Given the description of an element on the screen output the (x, y) to click on. 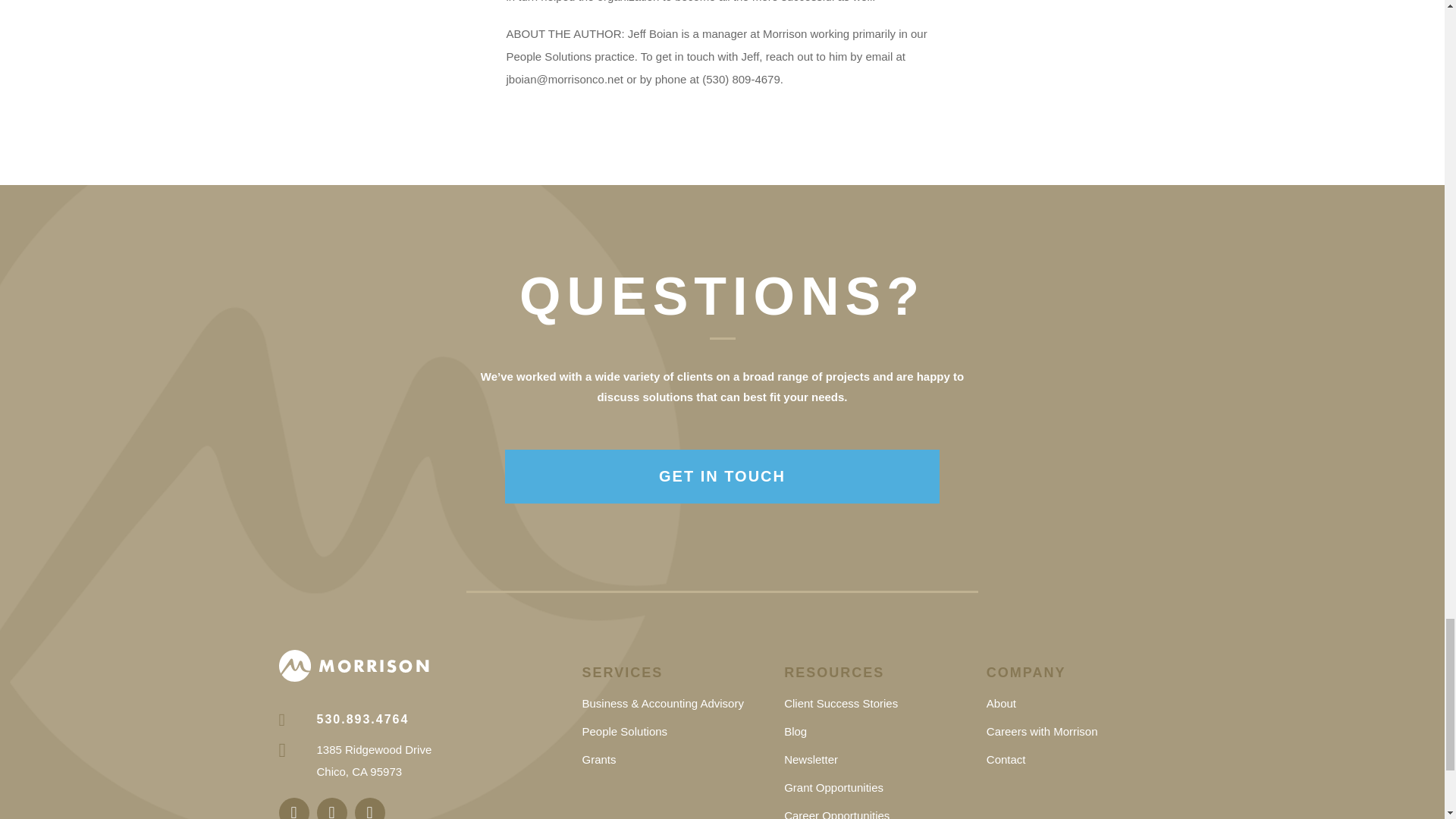
Newsletter (811, 758)
Client Success Stories (841, 703)
530.893.4764 (344, 720)
About (1001, 703)
Twitter (370, 808)
Contact (1006, 758)
Grant Opportunities (833, 787)
GET IN TOUCH (722, 476)
Career Opportunities (836, 814)
Grants (597, 758)
Blog (795, 730)
People Solutions (623, 730)
Careers with Morrison (1042, 730)
Facebook (332, 808)
LinkedIn (293, 808)
